Given the description of an element on the screen output the (x, y) to click on. 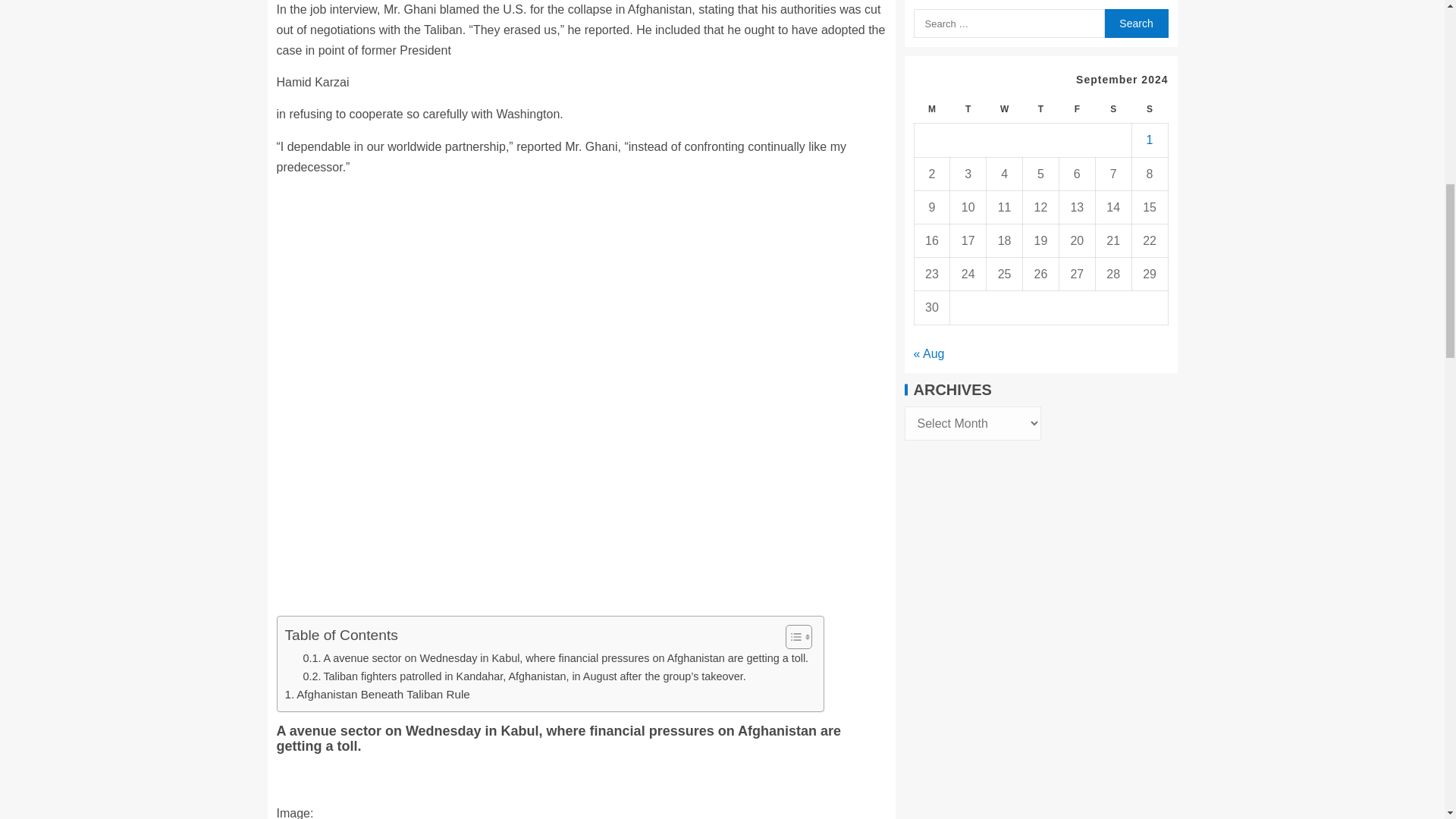
Afghanistan Beneath Taliban Rule (377, 694)
Afghanistan Beneath Taliban Rule (377, 694)
